Given the description of an element on the screen output the (x, y) to click on. 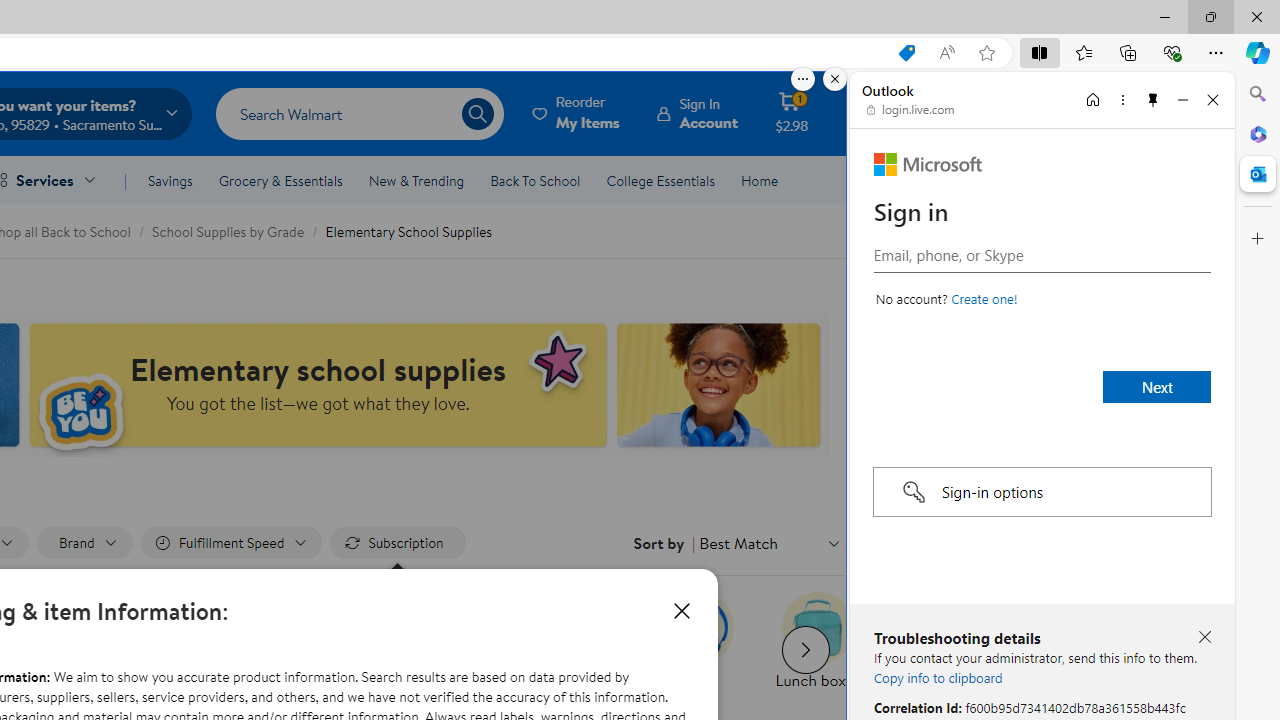
login.live.com (911, 110)
Close split screen. (835, 79)
Enter your email, phone, or Skype. (1042, 254)
Close troubleshooting details (1204, 636)
Next (1156, 386)
